Given the description of an element on the screen output the (x, y) to click on. 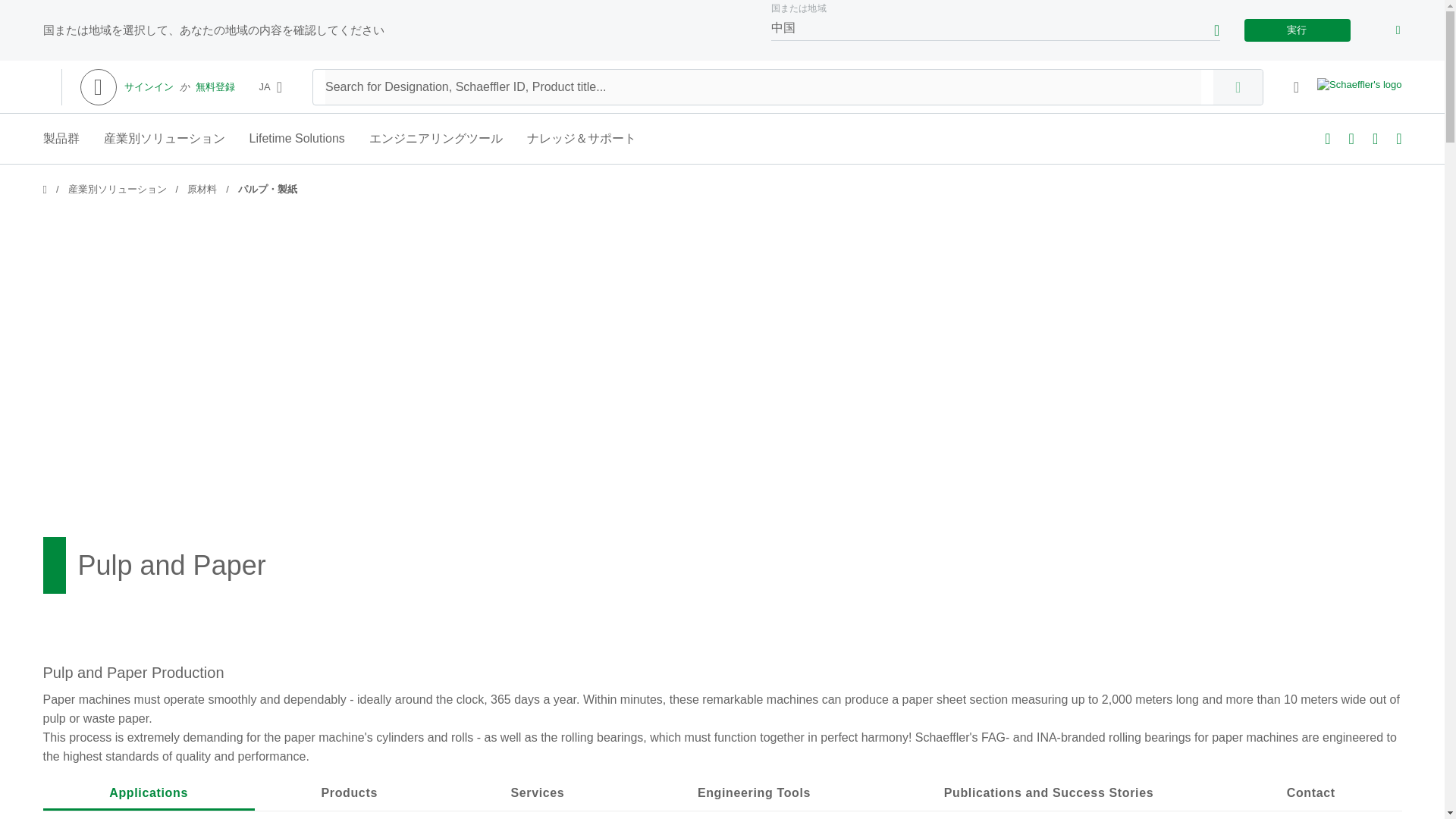
Engineering Tools (753, 794)
Publications and Success Stories (1048, 794)
Products (349, 794)
Services (537, 794)
Applications (148, 793)
Contact (1310, 794)
